Given the description of an element on the screen output the (x, y) to click on. 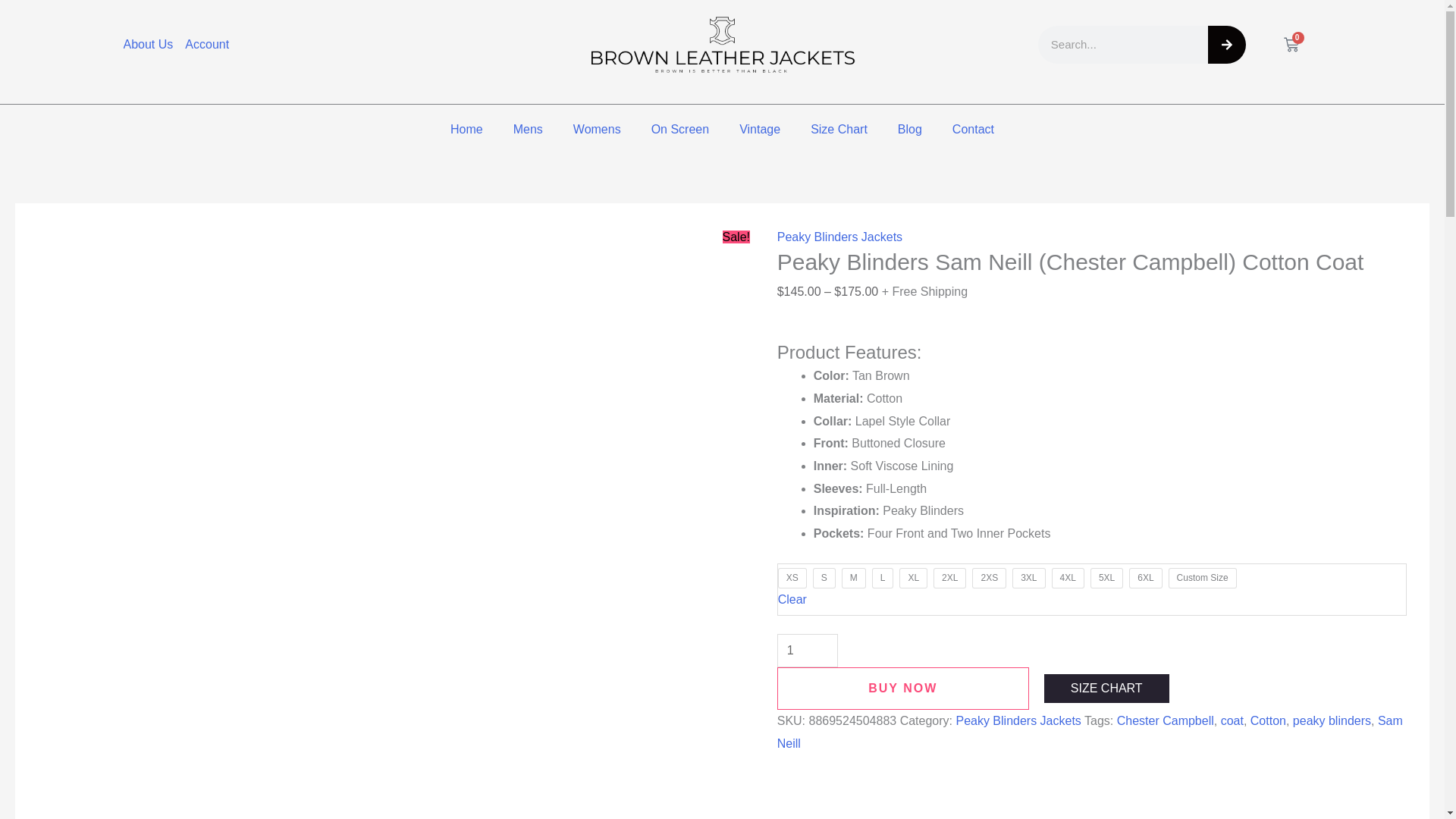
Vintage (758, 129)
Account (206, 44)
Mens (527, 129)
Womens (596, 129)
1 (1290, 44)
On Screen (807, 650)
Contact (679, 129)
Search (973, 129)
Blog (1225, 44)
Size Chart (909, 129)
Home (838, 129)
About Us (466, 129)
